Given the description of an element on the screen output the (x, y) to click on. 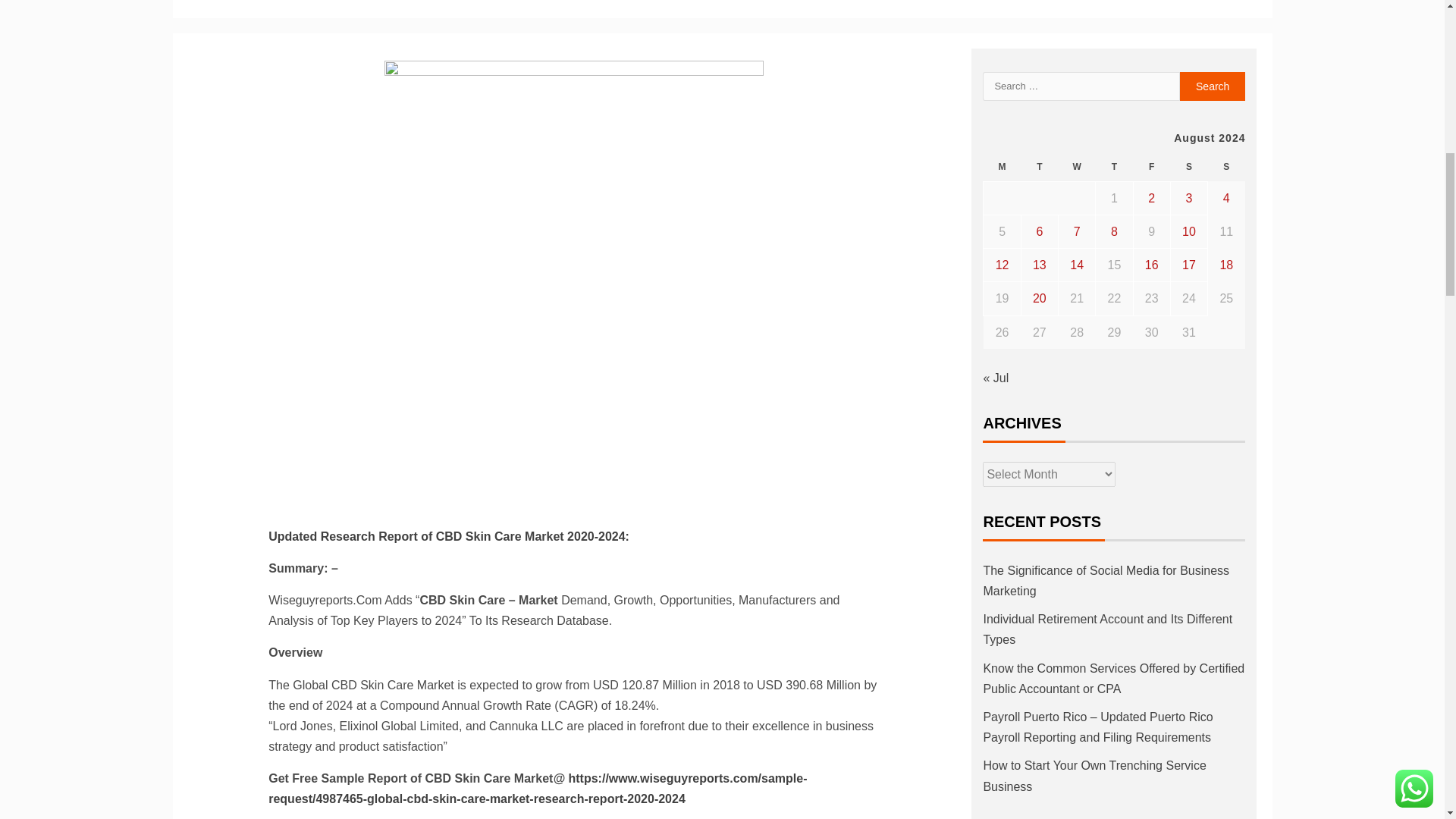
Updated Research Report of CBD Skin Care Market 2020-2024: (447, 535)
Search (1212, 86)
Monday (1002, 166)
Search (1212, 86)
